Given the description of an element on the screen output the (x, y) to click on. 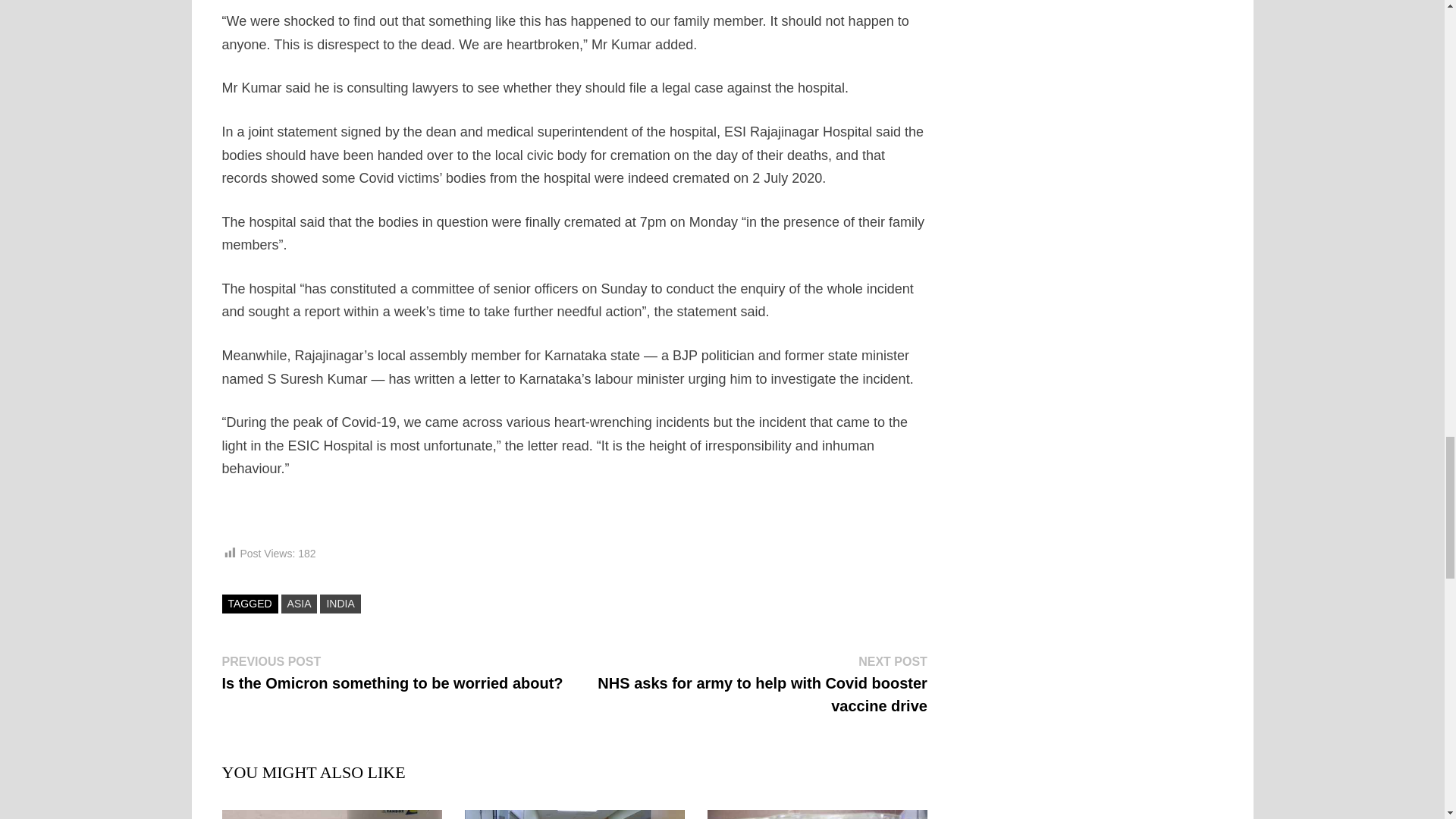
INDIA (339, 603)
ASIA (299, 603)
